Given the description of an element on the screen output the (x, y) to click on. 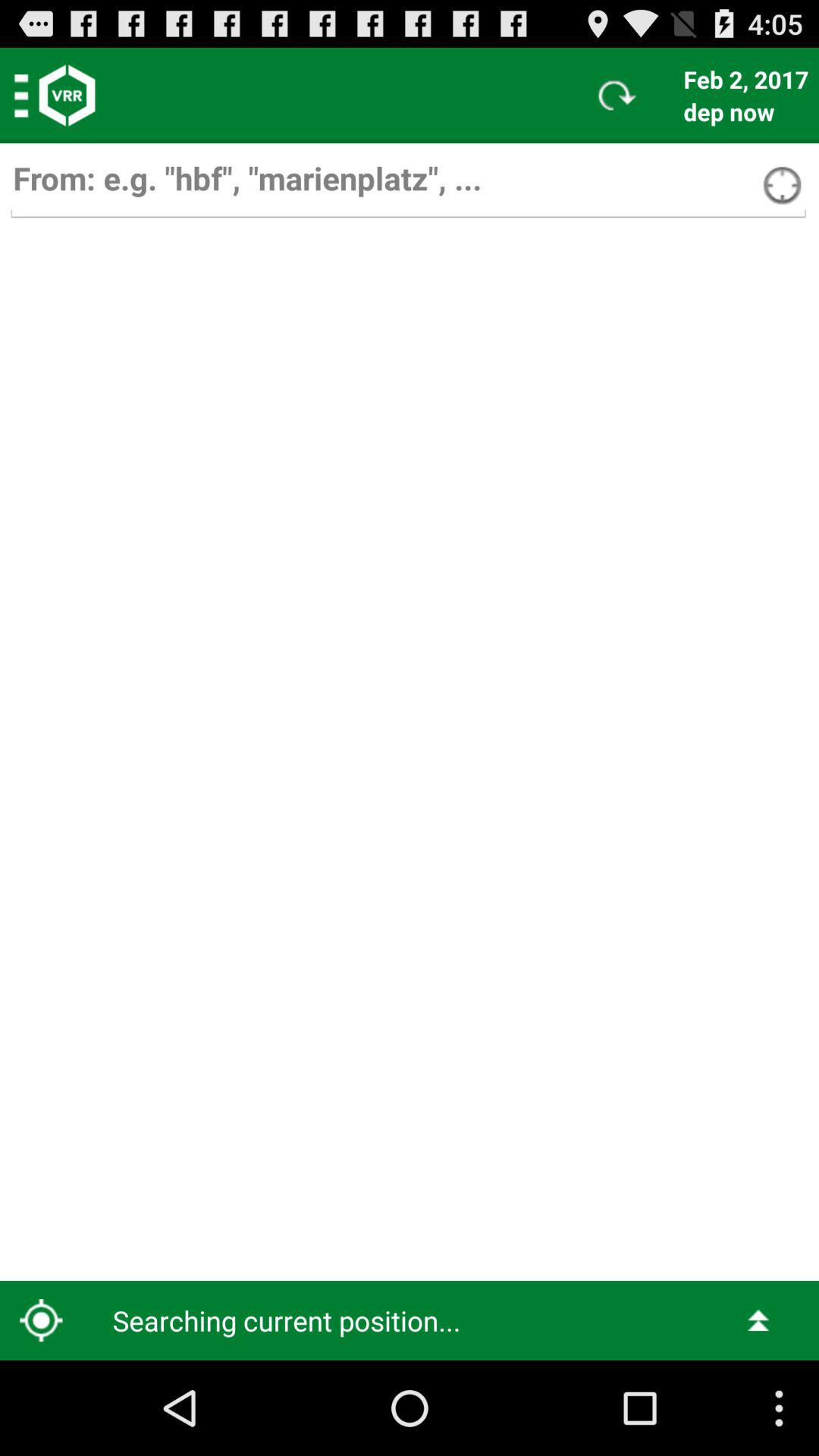
go to the sender option (407, 185)
